Given the description of an element on the screen output the (x, y) to click on. 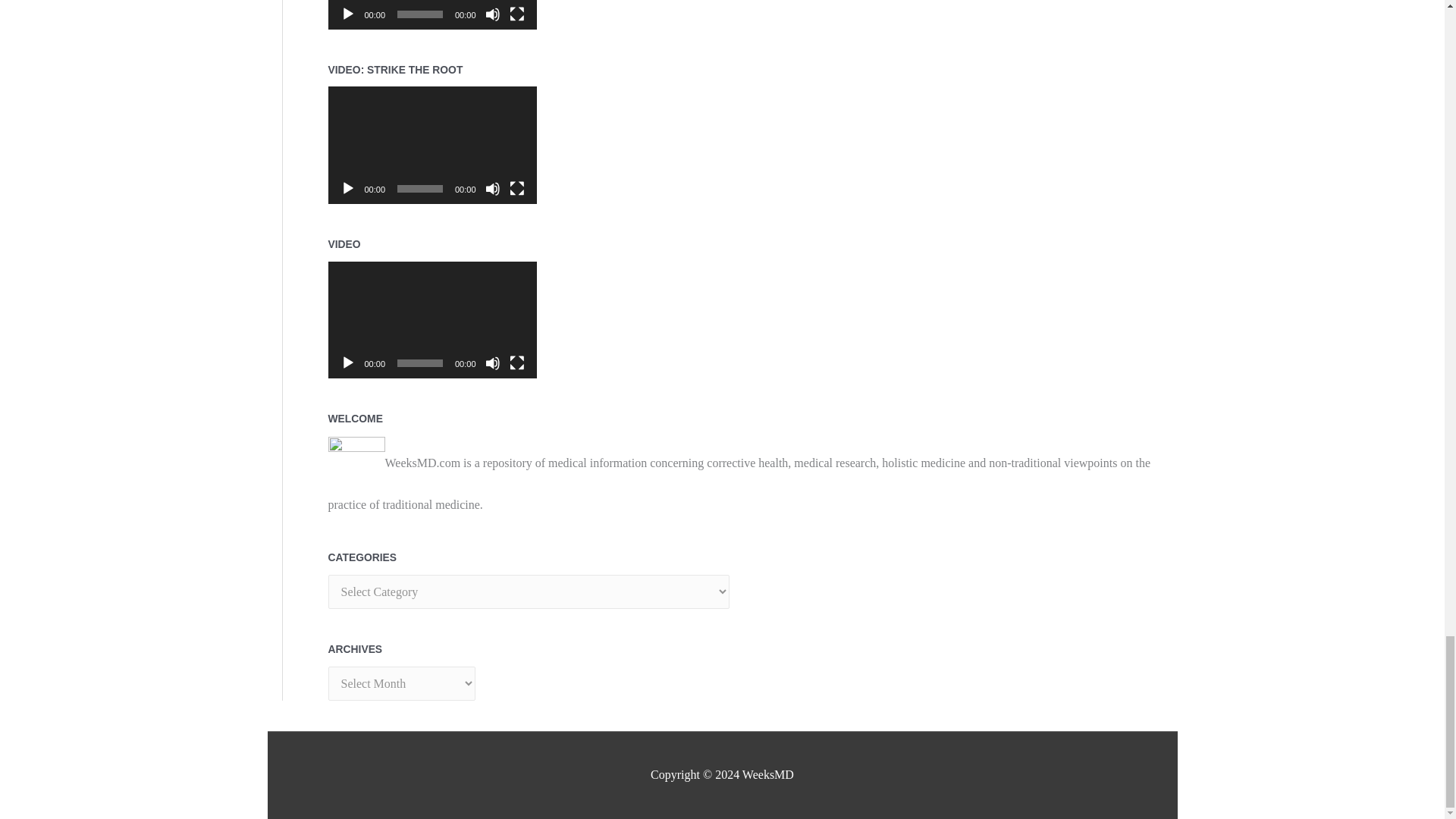
Fullscreen (516, 14)
Mute (492, 14)
Play (347, 14)
Fullscreen (516, 188)
Play (347, 363)
Mute (492, 363)
Mute (492, 188)
Play (347, 188)
